Given the description of an element on the screen output the (x, y) to click on. 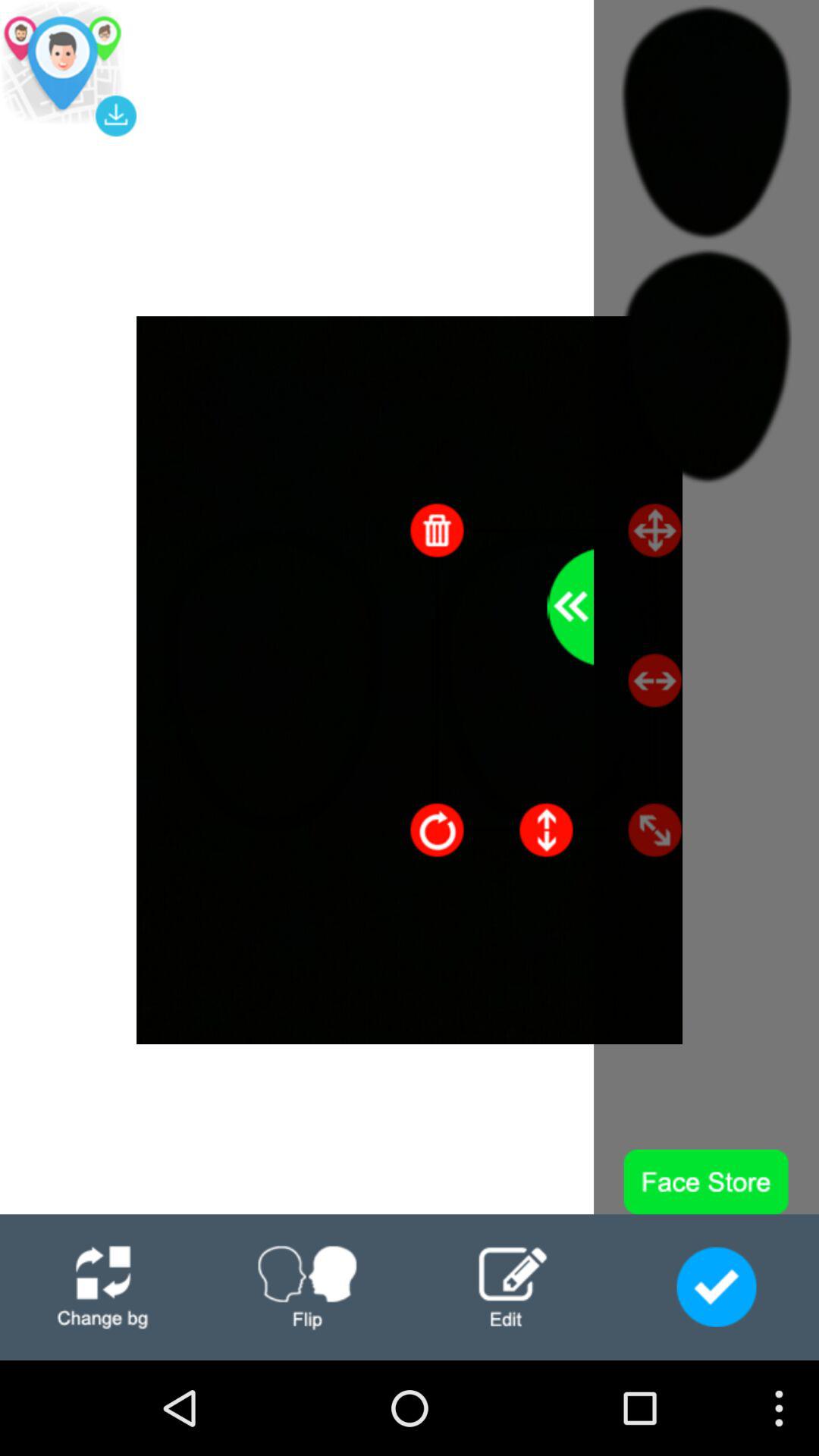
edit page (511, 1287)
